Given the description of an element on the screen output the (x, y) to click on. 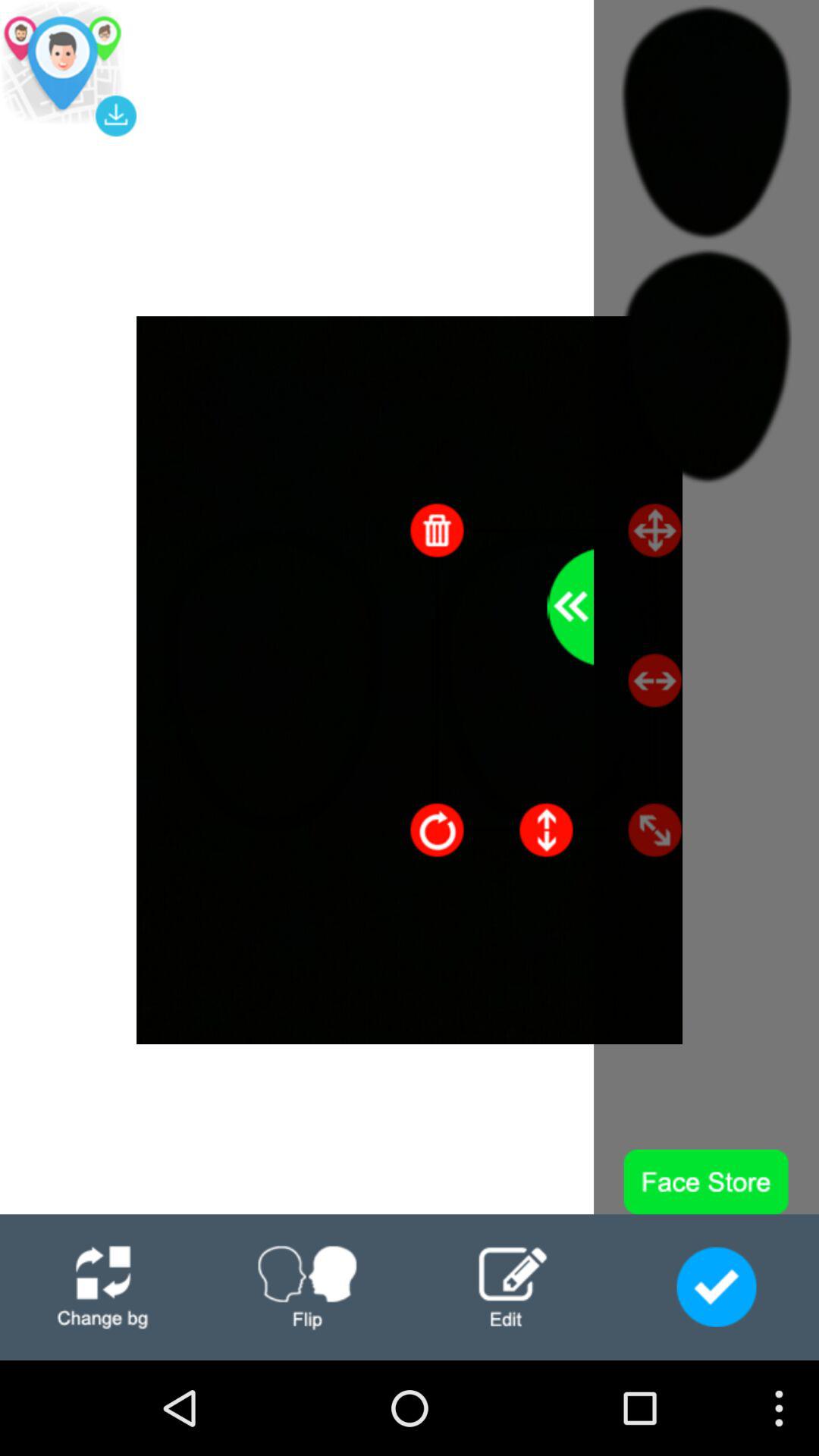
edit page (511, 1287)
